Given the description of an element on the screen output the (x, y) to click on. 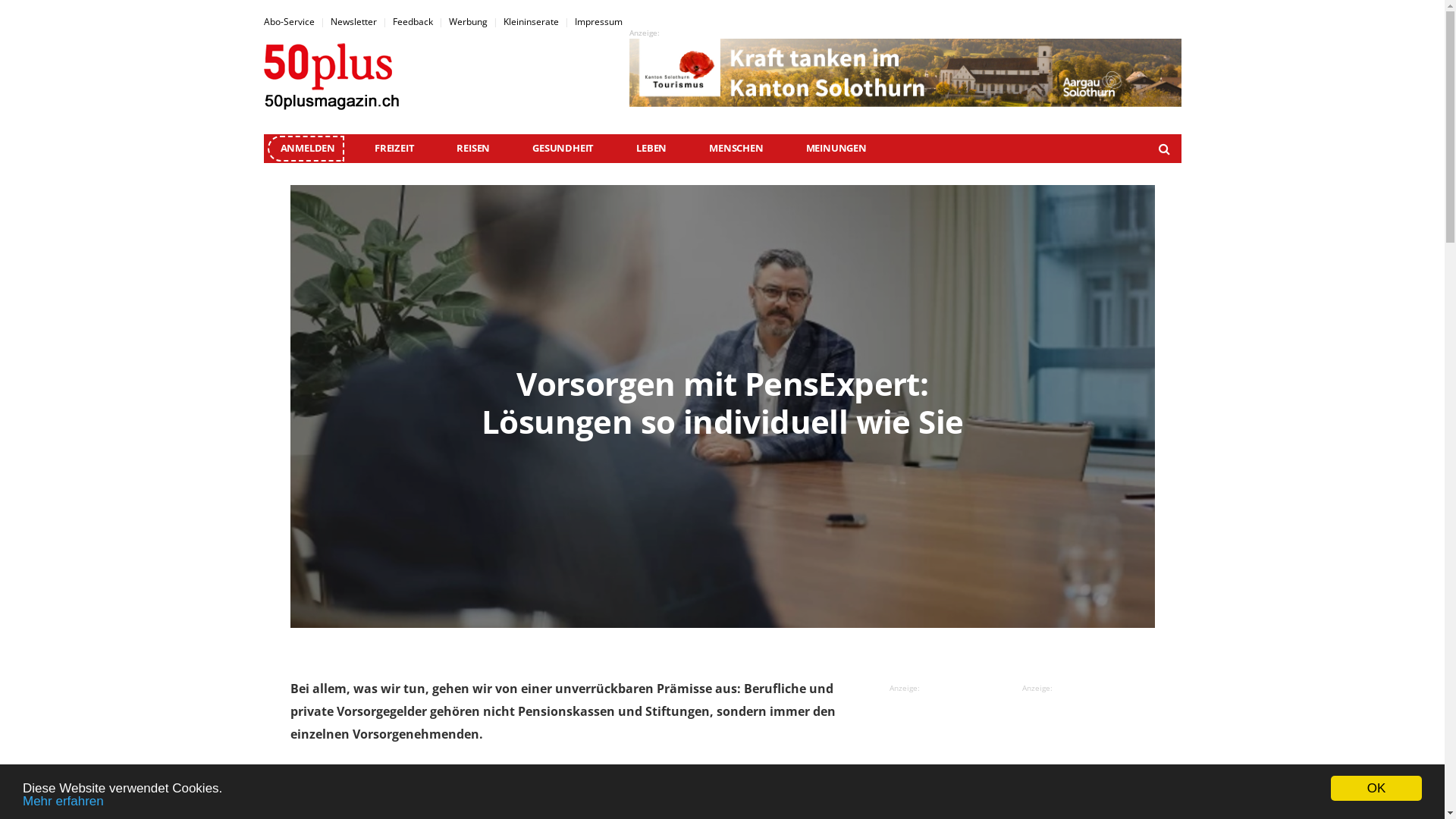
Newsletter Element type: text (353, 21)
Werbung Element type: text (467, 21)
Impressum Element type: text (598, 21)
pens-expert.ch Element type: text (484, 779)
FREIZEIT Element type: text (394, 148)
REISEN Element type: text (473, 148)
Kleininserate Element type: text (530, 21)
MENSCHEN Element type: text (735, 148)
ANMELDEN Element type: text (307, 147)
GESUNDHEIT Element type: text (563, 148)
Feedback Element type: text (412, 21)
OK Element type: text (1375, 787)
LEBEN Element type: text (651, 148)
Abo-Service Element type: text (288, 21)
MEINUNGEN Element type: text (836, 148)
